Given the description of an element on the screen output the (x, y) to click on. 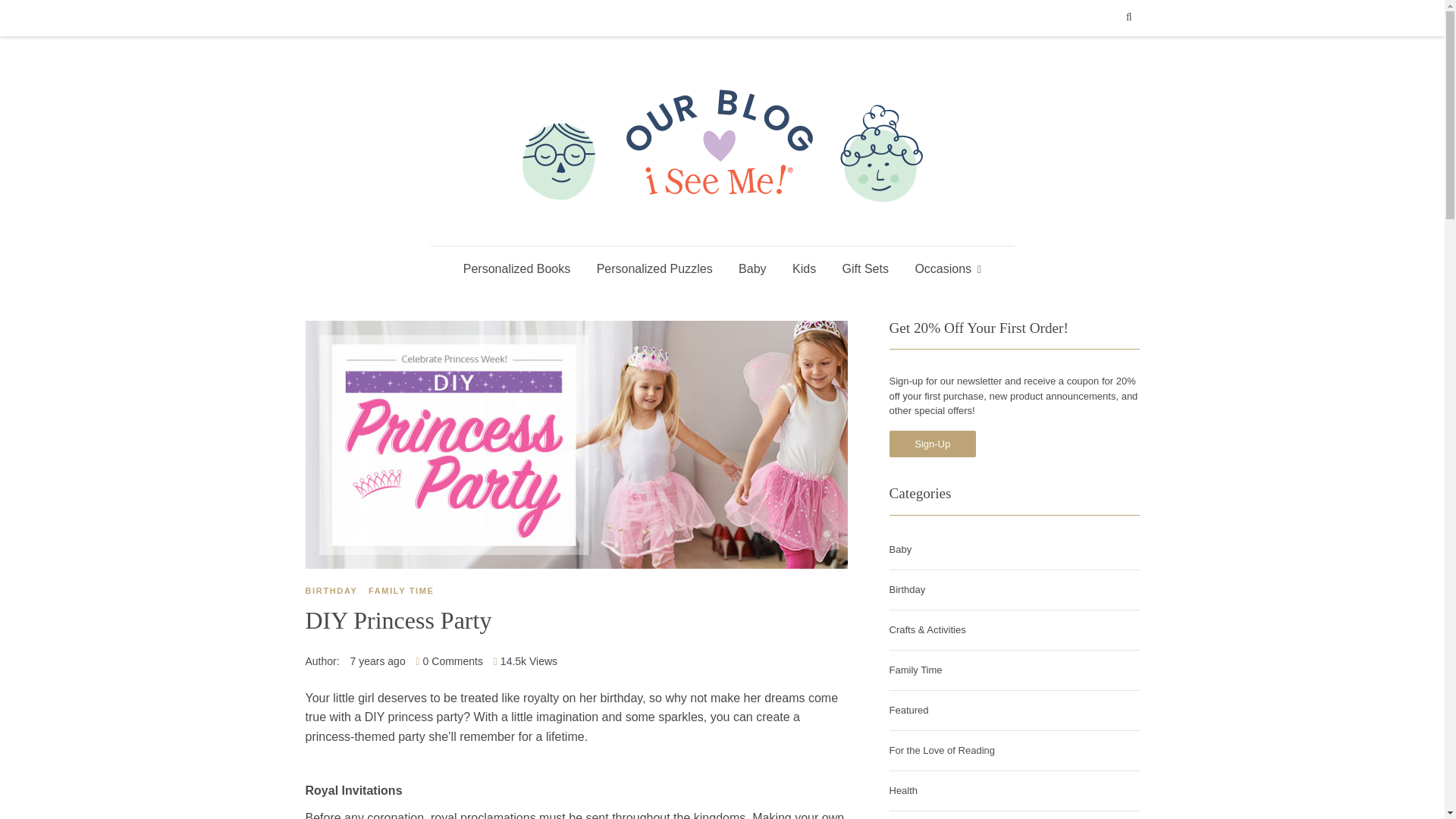
Sign-Up (931, 443)
BIRTHDAY (334, 590)
FAMILY TIME (405, 590)
Personalized Puzzles (654, 269)
Kids (803, 269)
Occasions (947, 269)
Personalized Books (515, 269)
Baby (751, 269)
Gift Sets (865, 269)
I See Me! Blog (722, 225)
